Given the description of an element on the screen output the (x, y) to click on. 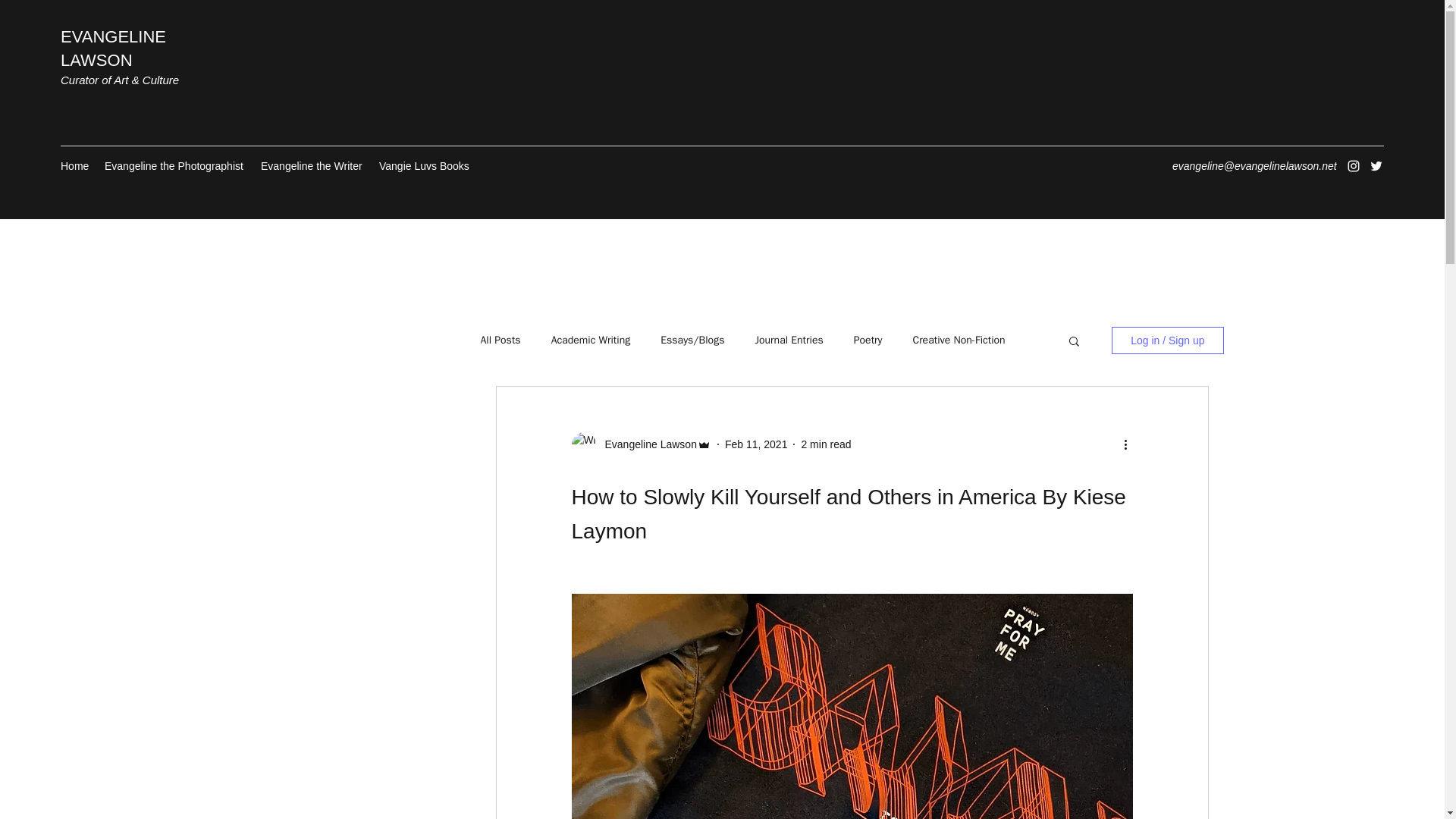
2 min read (825, 444)
Evangeline the Writer (312, 165)
Poetry (867, 340)
Home (74, 165)
All Posts (500, 340)
Evangeline the Photographist (175, 165)
Creative Non-Fiction (958, 340)
Vangie Luvs Books (422, 165)
Journal Entries (788, 340)
Academic Writing (590, 340)
Evangeline Lawson (646, 444)
Feb 11, 2021 (756, 444)
